Given the description of an element on the screen output the (x, y) to click on. 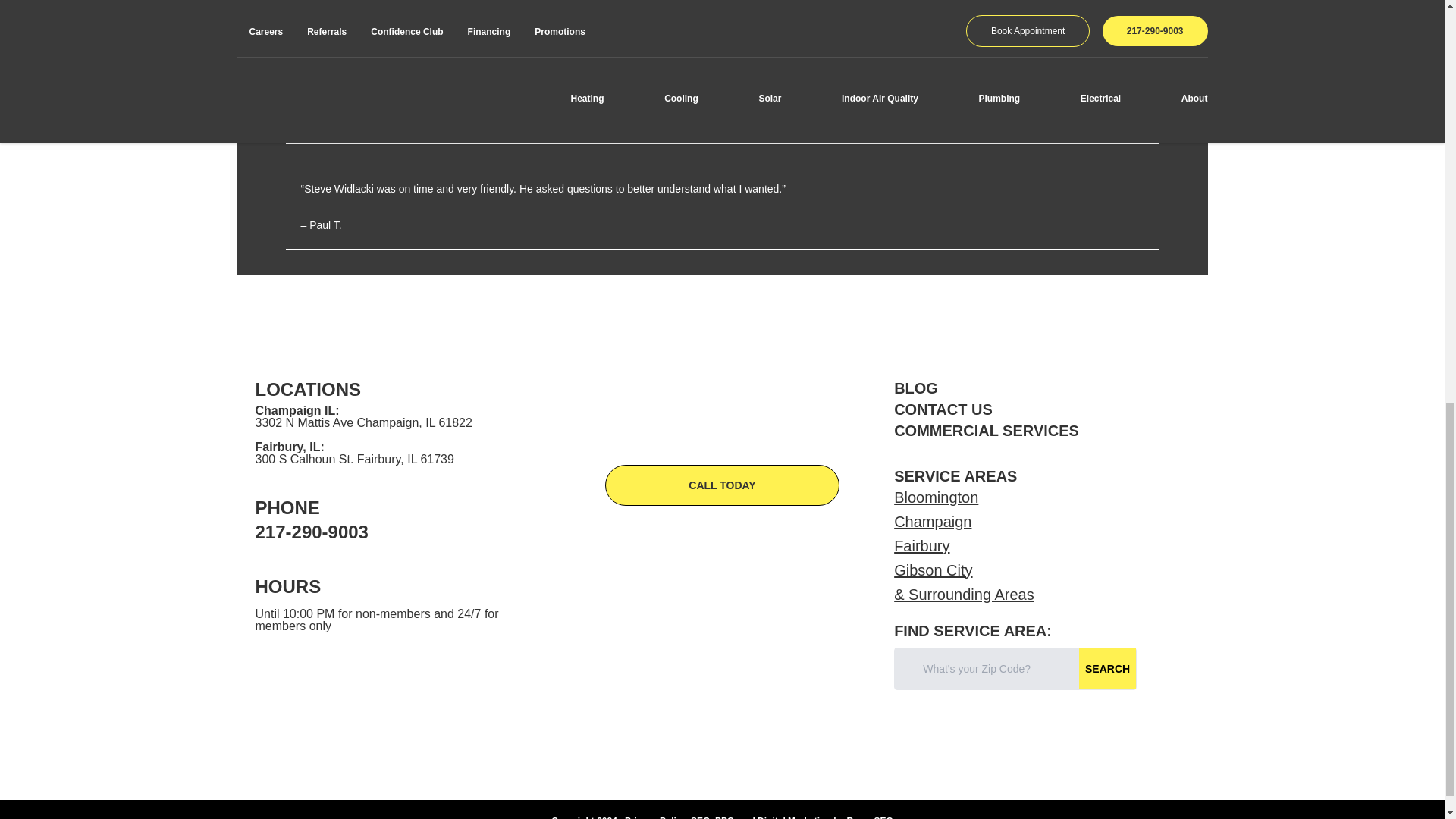
Search (1106, 667)
